Given the description of an element on the screen output the (x, y) to click on. 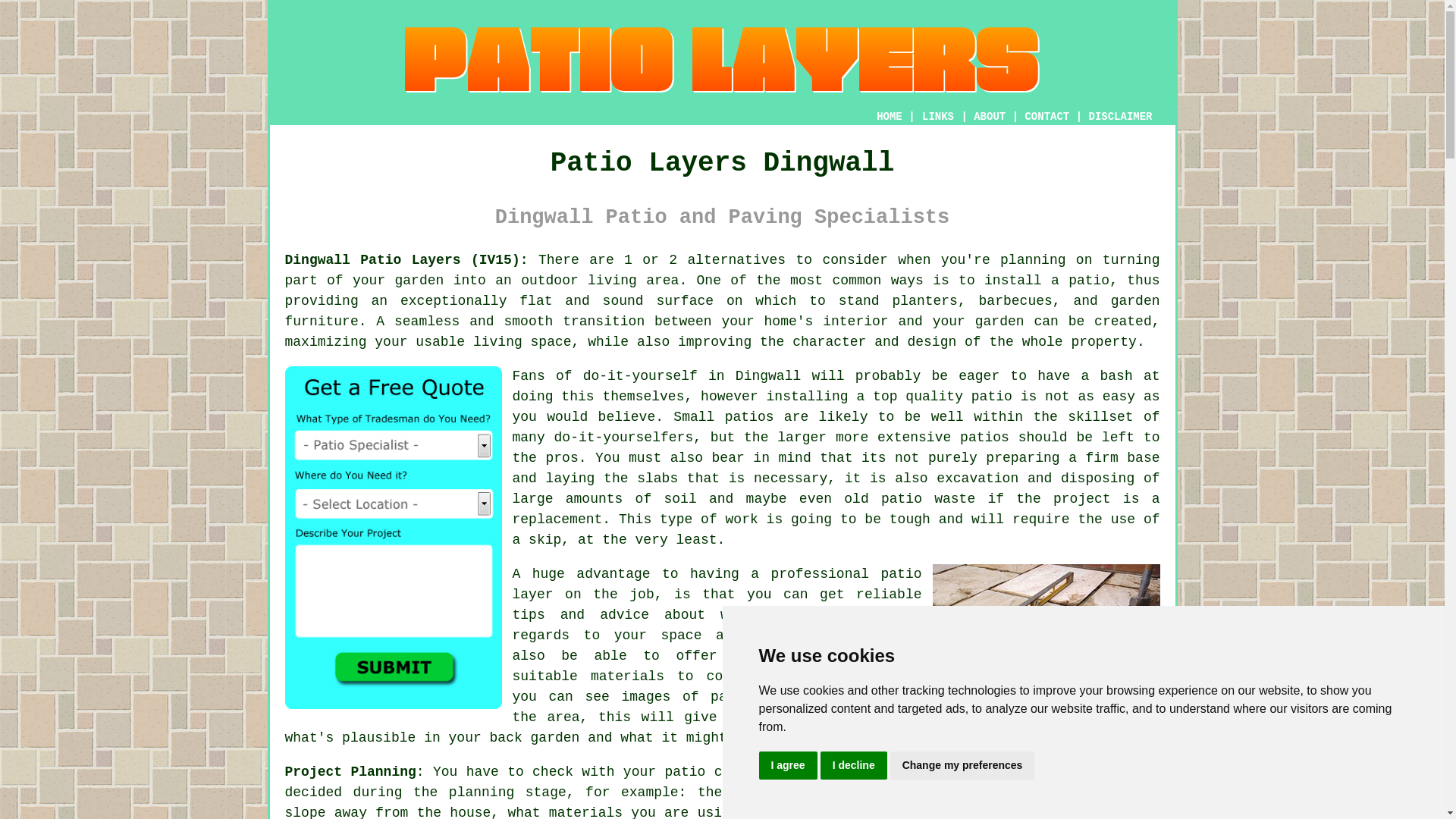
patio (683, 771)
LINKS (938, 116)
materials (627, 676)
a patio (1080, 280)
I agree (787, 765)
patio (900, 573)
HOME (889, 116)
I decline (853, 765)
Patio Layers Dingwall (722, 60)
patioed (980, 792)
